Given the description of an element on the screen output the (x, y) to click on. 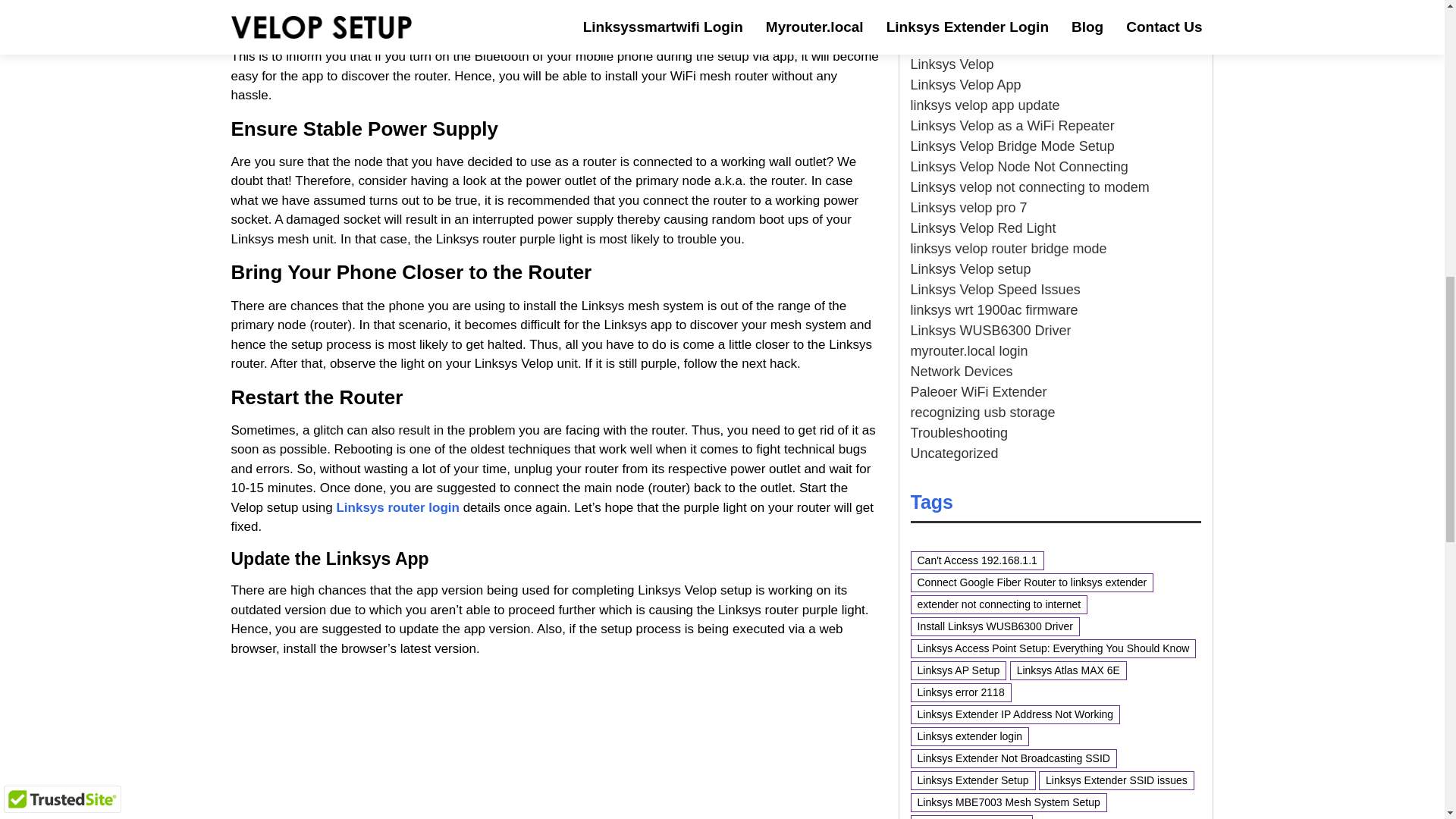
Linksys router settings (977, 5)
Linksys Velop App (965, 84)
linksys velop app update (984, 105)
Linksys Smart WiFi (968, 43)
Linksys router login (397, 507)
Linksys Velop as a WiFi Repeater (1011, 125)
Linksys Velop Bridge Mode Setup (1011, 145)
Linksys router setup (971, 23)
Linksys Velop (951, 64)
